Given the description of an element on the screen output the (x, y) to click on. 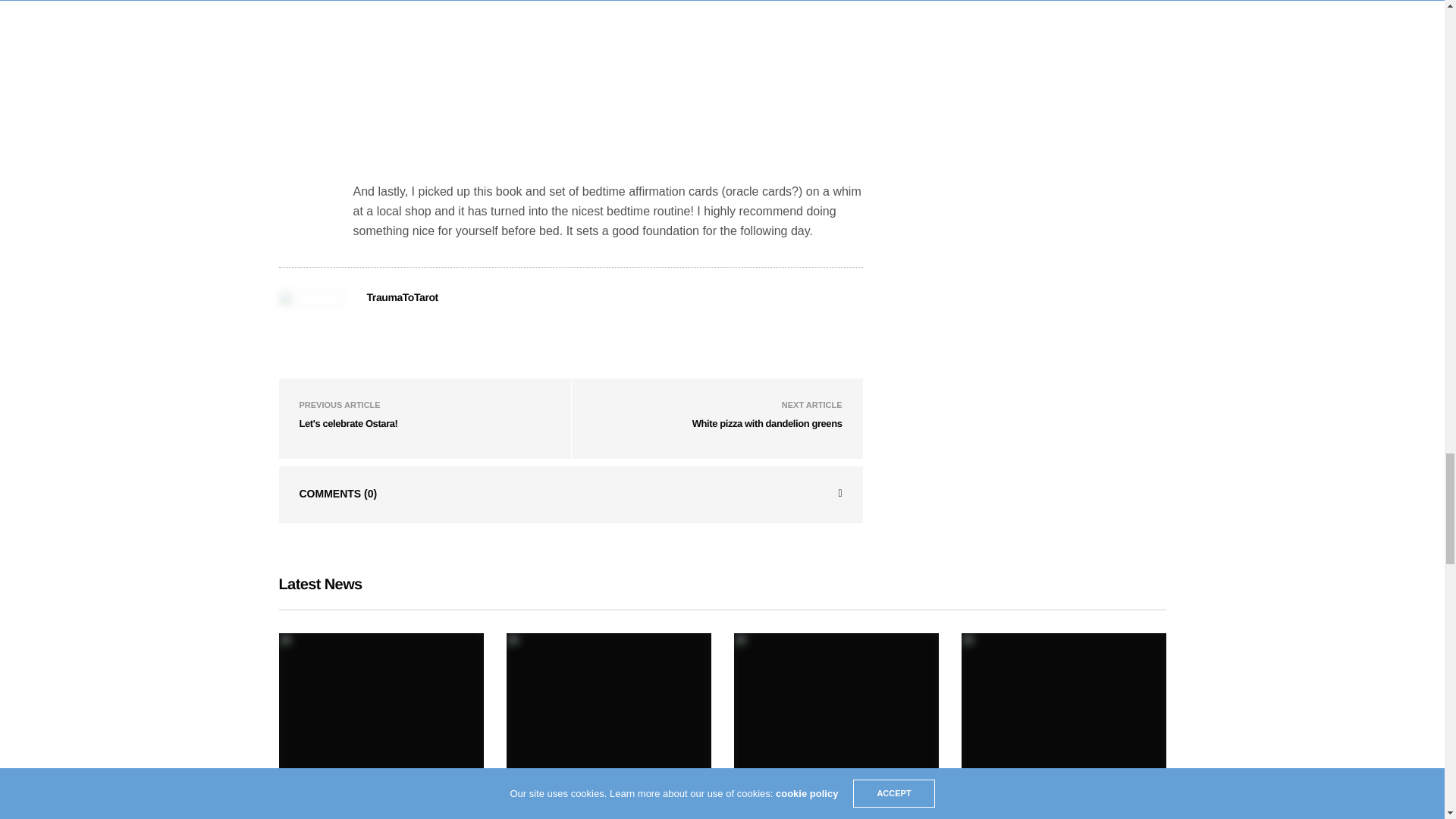
Let's celebrate Ostara! (347, 423)
Negative entities in Mediumship (381, 705)
UNCATEGORIZED (541, 792)
TraumaToTarot (402, 297)
Uncategorized (314, 792)
UNCATEGORIZED (314, 792)
White pizza with dandelion greens (768, 423)
Let's celebrate Ostara! (347, 423)
Negative entities in Mediumship (344, 812)
Journeying into the Real World (1045, 812)
Negative entities in Mediumship (344, 812)
White pizza with dandelion greens (768, 423)
